Given the description of an element on the screen output the (x, y) to click on. 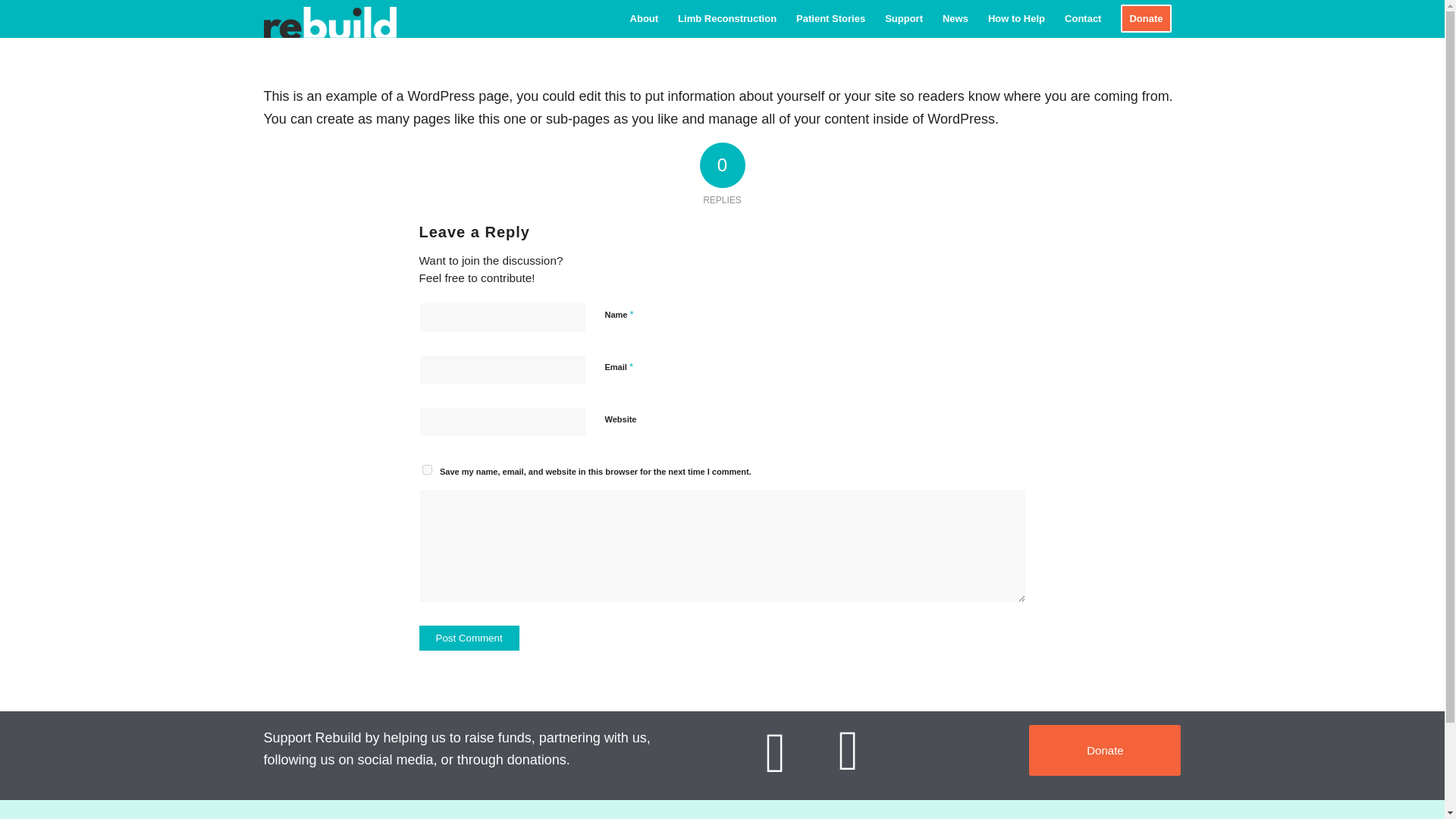
Donate (1145, 18)
Contact (1082, 18)
Limb Reconstruction (727, 18)
Post Comment (468, 637)
About (644, 18)
Post Comment (468, 637)
Support (904, 18)
News (955, 18)
yes (426, 470)
Patient Stories (830, 18)
Donate (1104, 749)
rebuild-logo-small (329, 18)
How to Help (1016, 18)
